Given the description of an element on the screen output the (x, y) to click on. 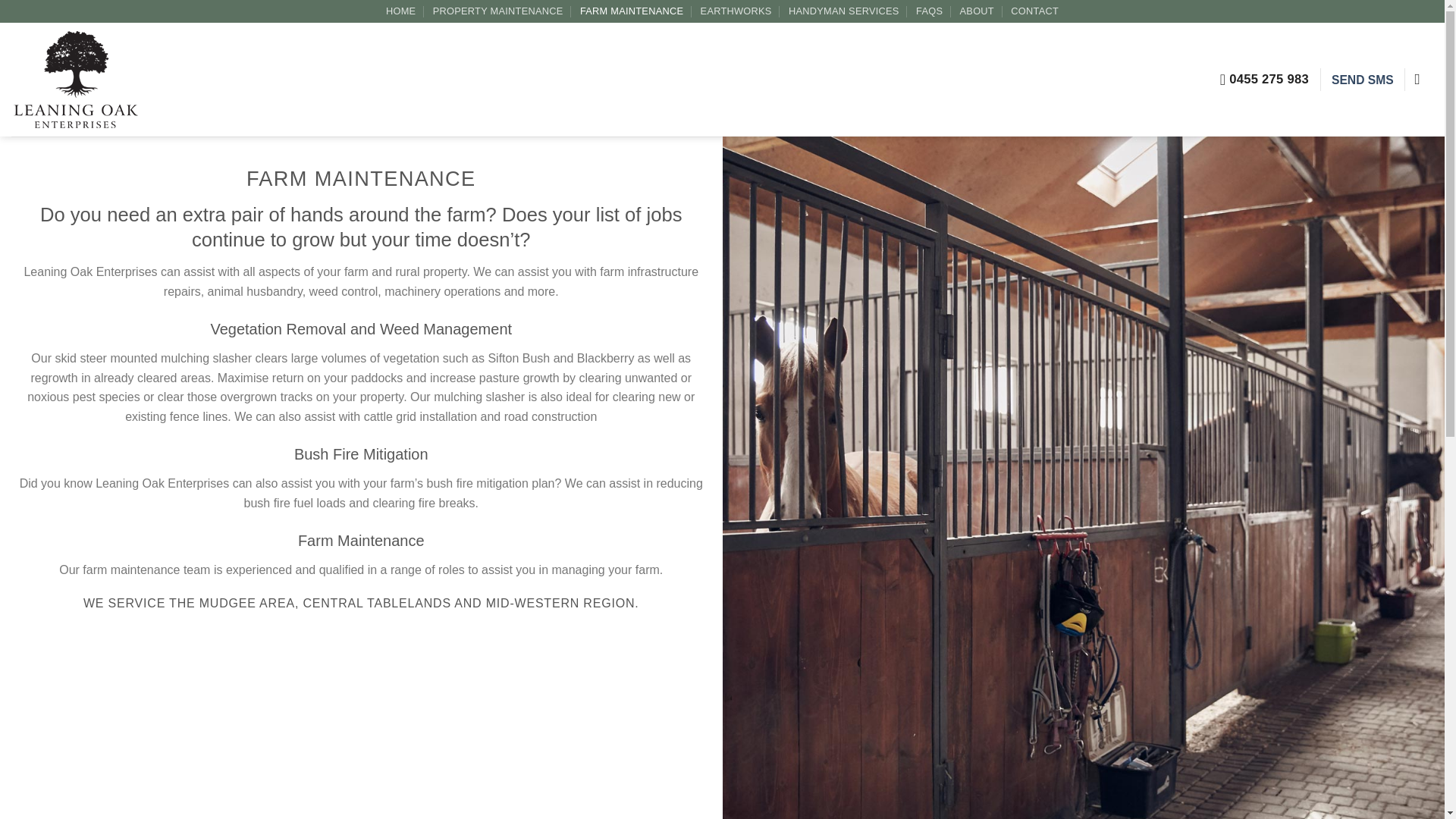
Send us an email (1422, 79)
FAQS (928, 11)
FARM MAINTENANCE (630, 11)
0455 275 983 (1264, 79)
SEND SMS (1362, 79)
HANDYMAN SERVICES (844, 11)
CONTACT (1034, 11)
HOME (399, 11)
ABOUT (976, 11)
